Given the description of an element on the screen output the (x, y) to click on. 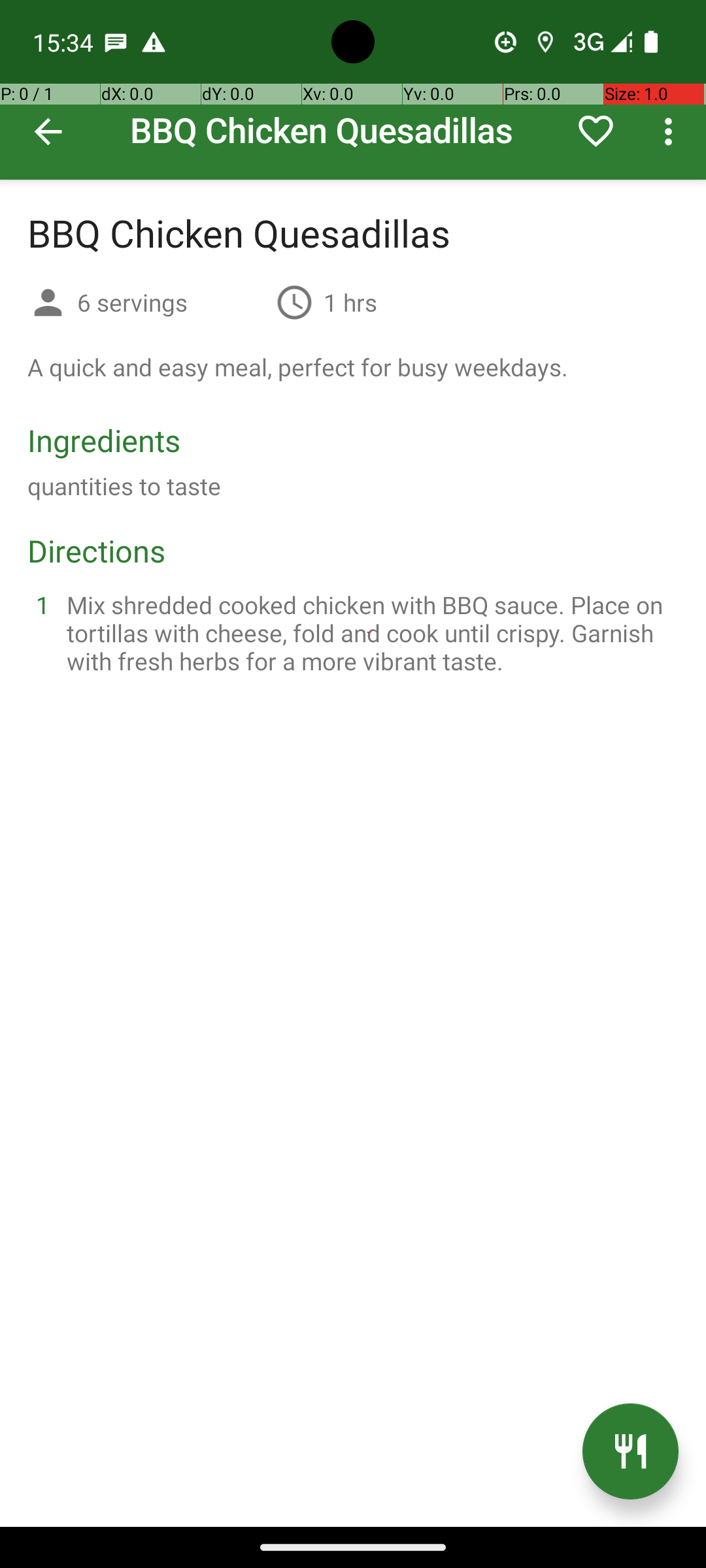
Mix shredded cooked chicken with BBQ sauce. Place on tortillas with cheese, fold and cook until crispy. Garnish with fresh herbs for a more vibrant taste. Element type: android.widget.TextView (368, 632)
